Given the description of an element on the screen output the (x, y) to click on. 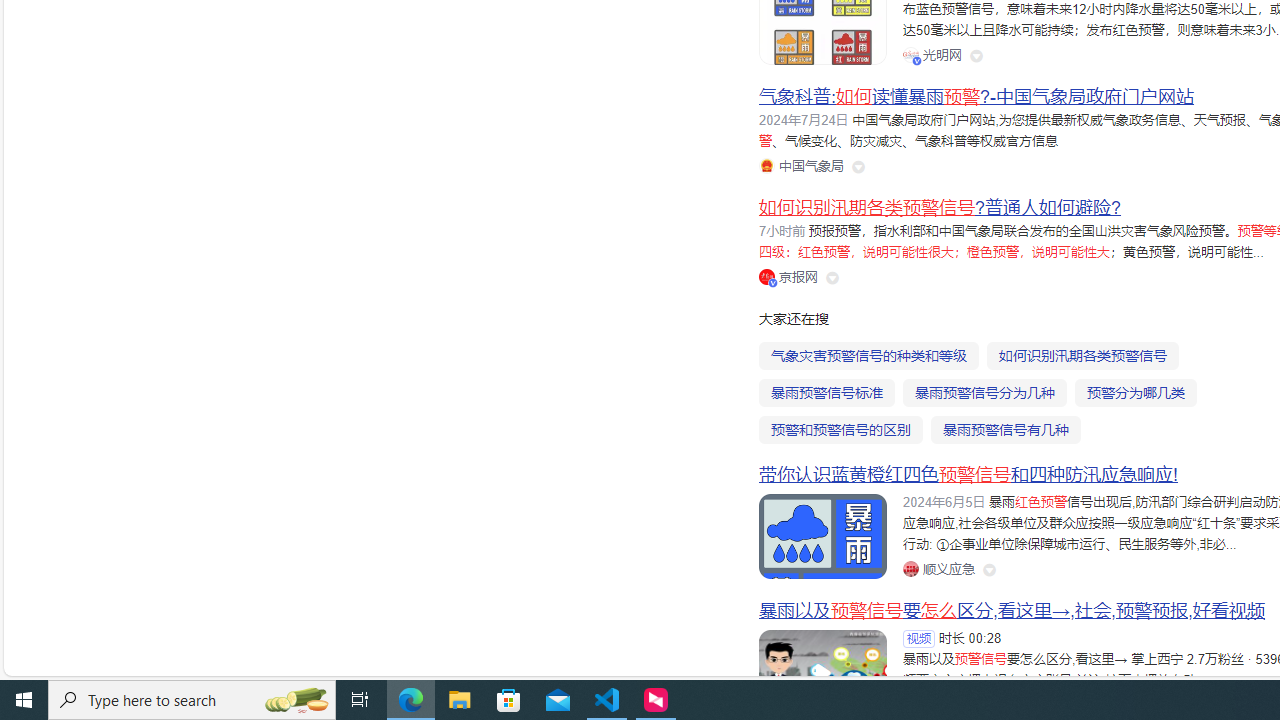
Class: siteLink_9TPP3 (938, 568)
Class: vip-icon_kNmNt (773, 282)
